Given the description of an element on the screen output the (x, y) to click on. 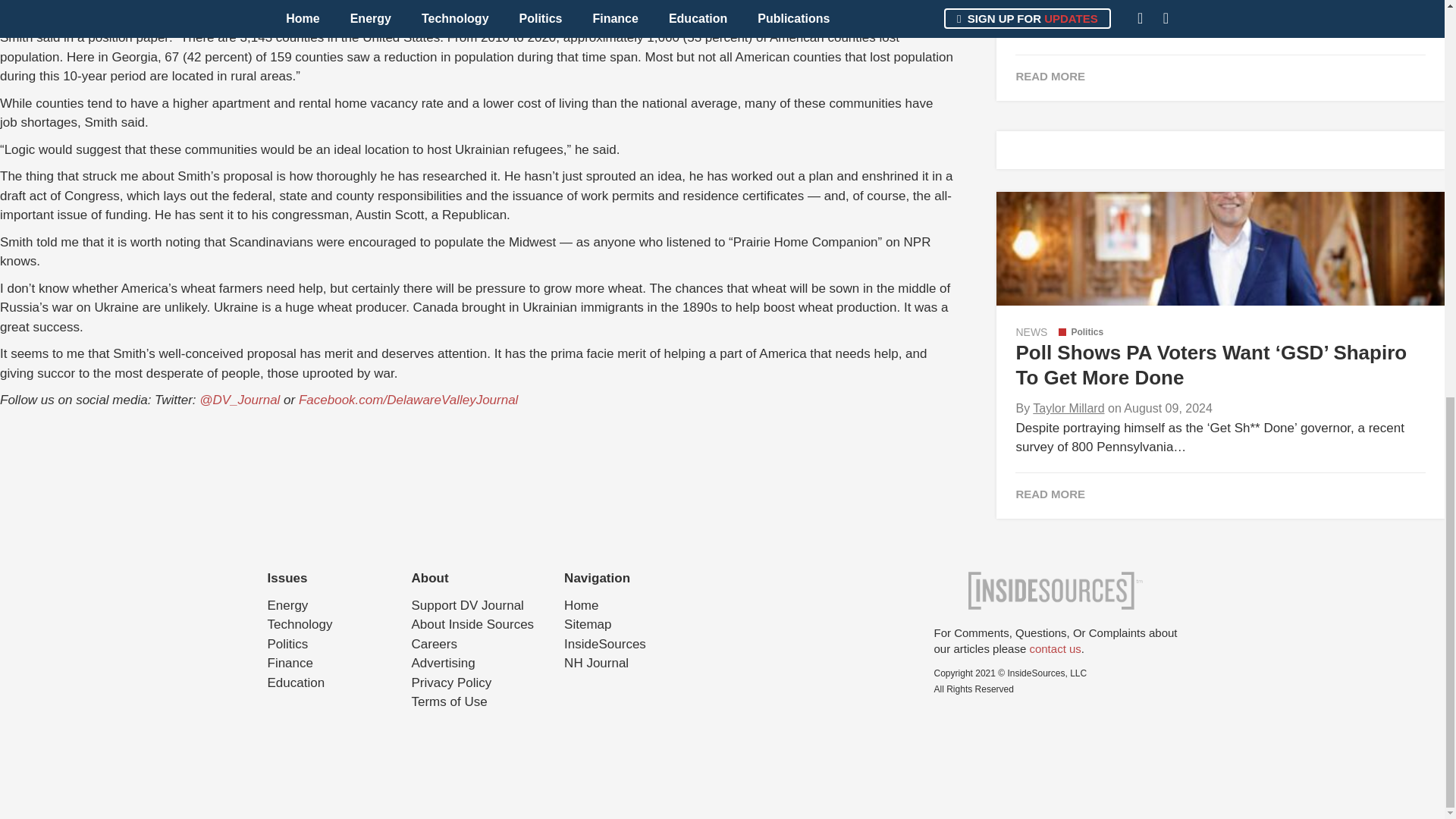
Support DV Journal (466, 605)
Careers (433, 644)
READ MORE (1219, 493)
Politics (1080, 331)
Energy (286, 605)
Finance (289, 663)
Taylor Millard (1067, 408)
Advertising (442, 663)
Politics (286, 644)
Education (295, 682)
